Given the description of an element on the screen output the (x, y) to click on. 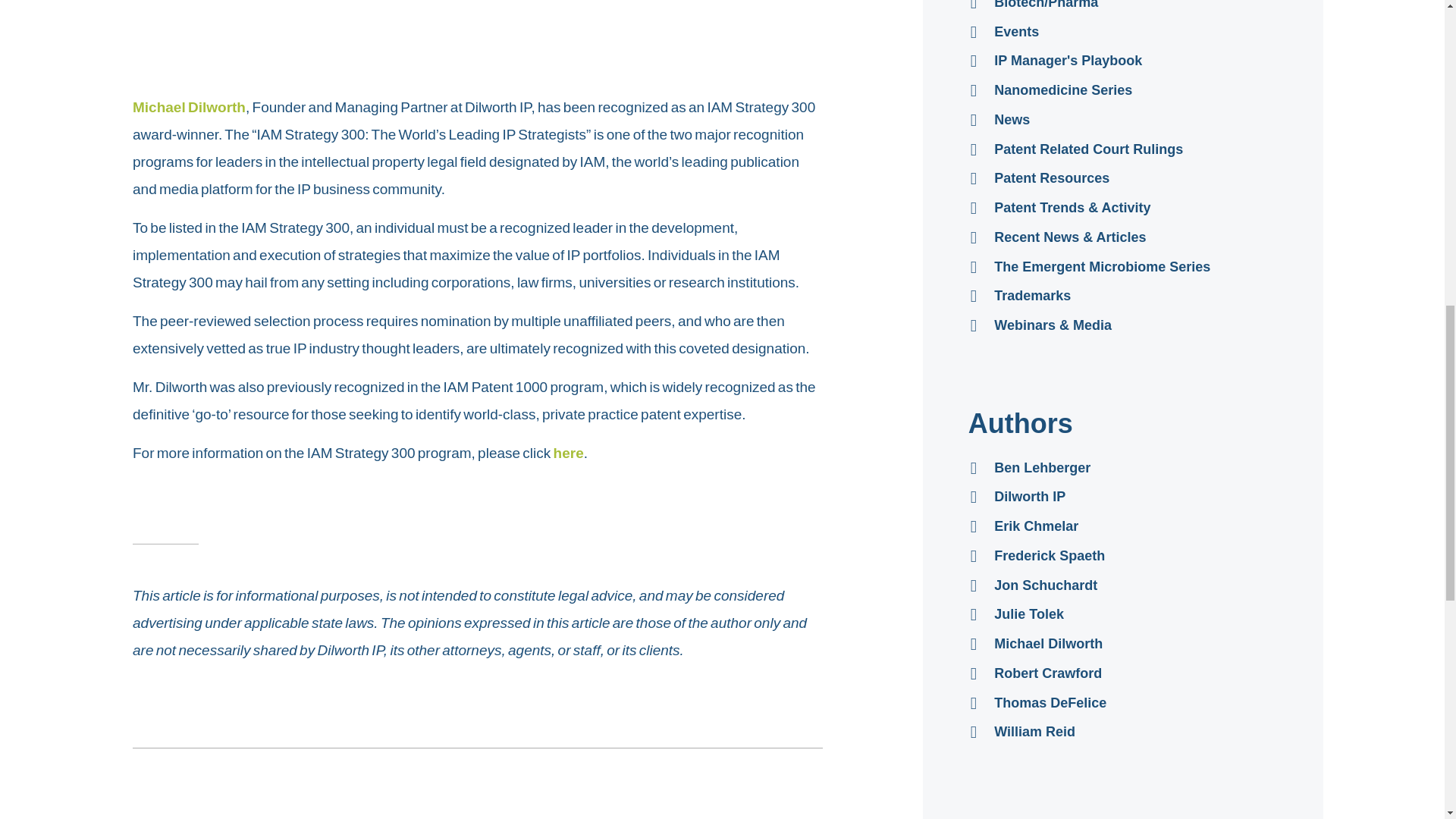
Posts by William Reid (1123, 734)
Posts by Thomas DeFelice (1123, 705)
Nanomedicine Series (1123, 92)
Michael Dilworth Receives IAM Strategy 300 Recognition. (429, 36)
The Emergent Microbiome Series (1123, 269)
Posts by Julie Tolek (1123, 616)
Posts by Robert Crawford (1123, 675)
Michael Dilworth (189, 107)
Patent Related Court Rulings (1123, 152)
here (568, 453)
